Given the description of an element on the screen output the (x, y) to click on. 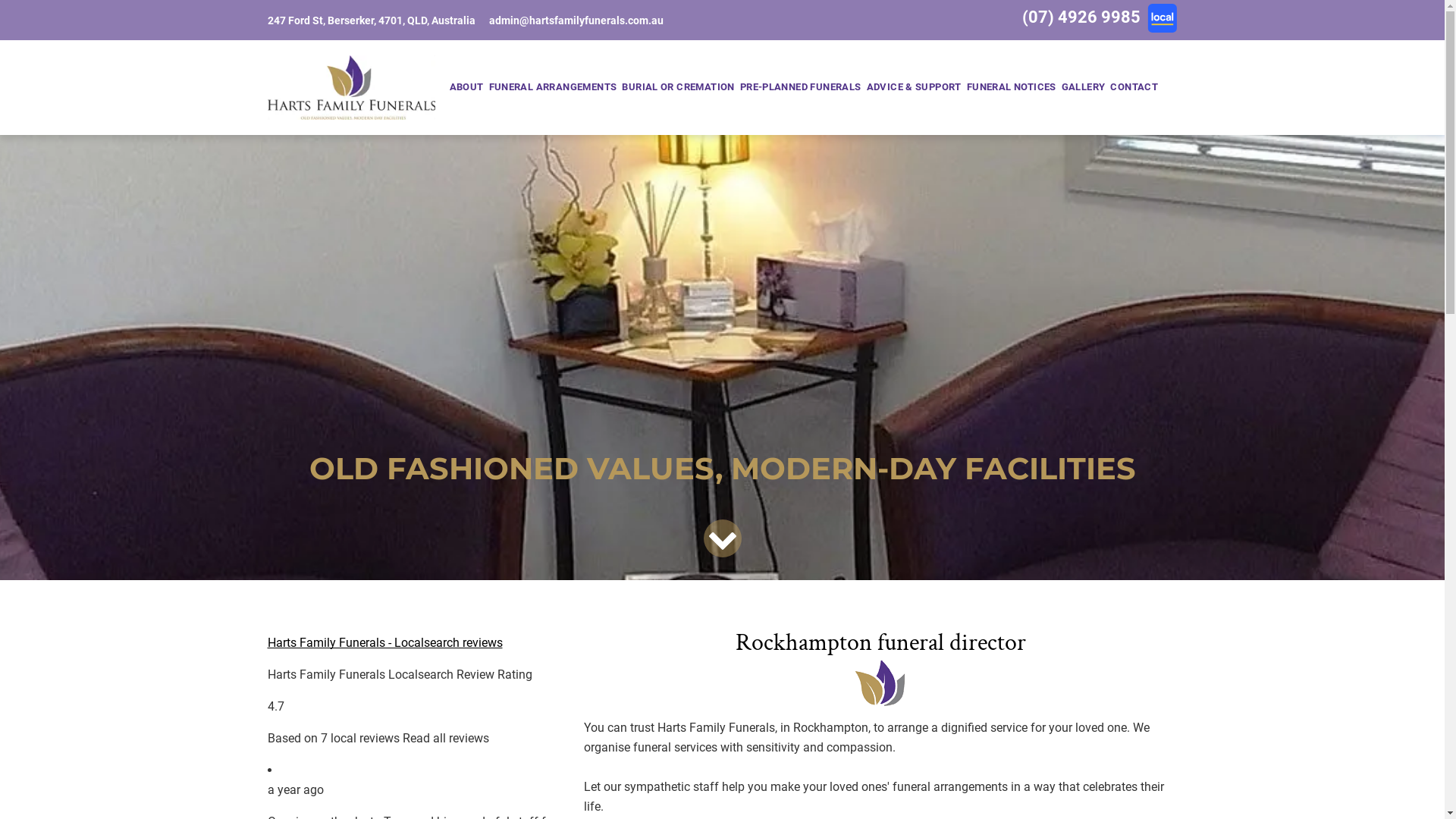
FUNERAL ARRANGEMENTS Element type: text (552, 87)
ADVICE & SUPPORT Element type: text (913, 87)
ABOUT Element type: text (466, 87)
GALLERY Element type: text (1082, 87)
PRE-PLANNED FUNERALS Element type: text (800, 87)
CONTACT Element type: text (1133, 87)
Harts Family Funerals - Localsearch reviews Element type: text (384, 642)
BURIAL OR CREMATION Element type: text (677, 87)
Harts Family Funerals Element type: hover (350, 87)
admin@hartsfamilyfunerals.com.au Element type: text (575, 19)
(07) 4926 9985 Element type: text (1081, 16)
FUNERAL NOTICES Element type: text (1010, 87)
